Given the description of an element on the screen output the (x, y) to click on. 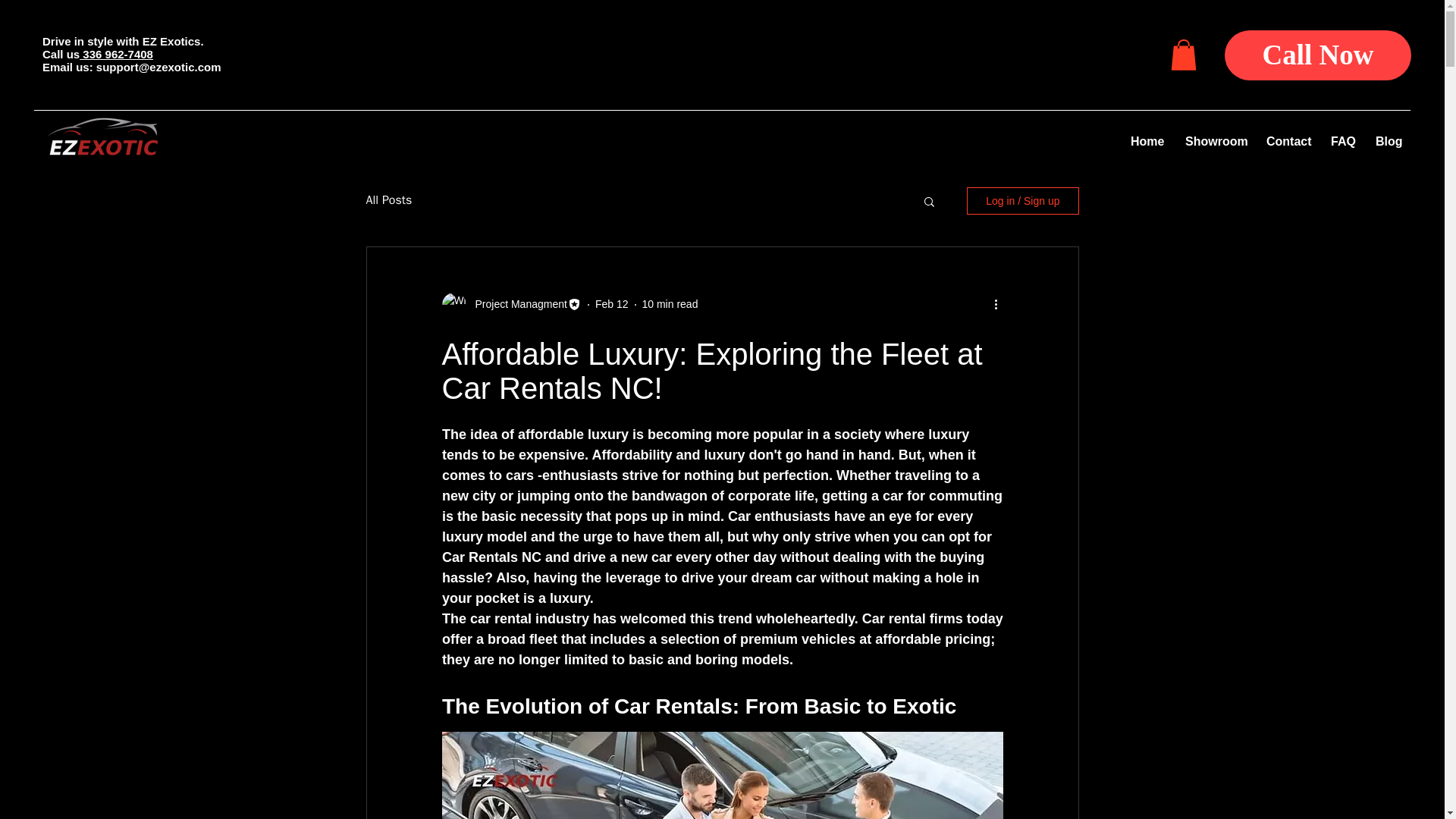
Feb 12 (611, 304)
Blog (1387, 141)
336 962-7408 (116, 53)
Project Managment (515, 304)
Home (1146, 141)
Call Now (1317, 55)
Contact (1287, 141)
Showroom (1214, 141)
FAQ (1341, 141)
All Posts (388, 200)
10 min read (669, 304)
